Given the description of an element on the screen output the (x, y) to click on. 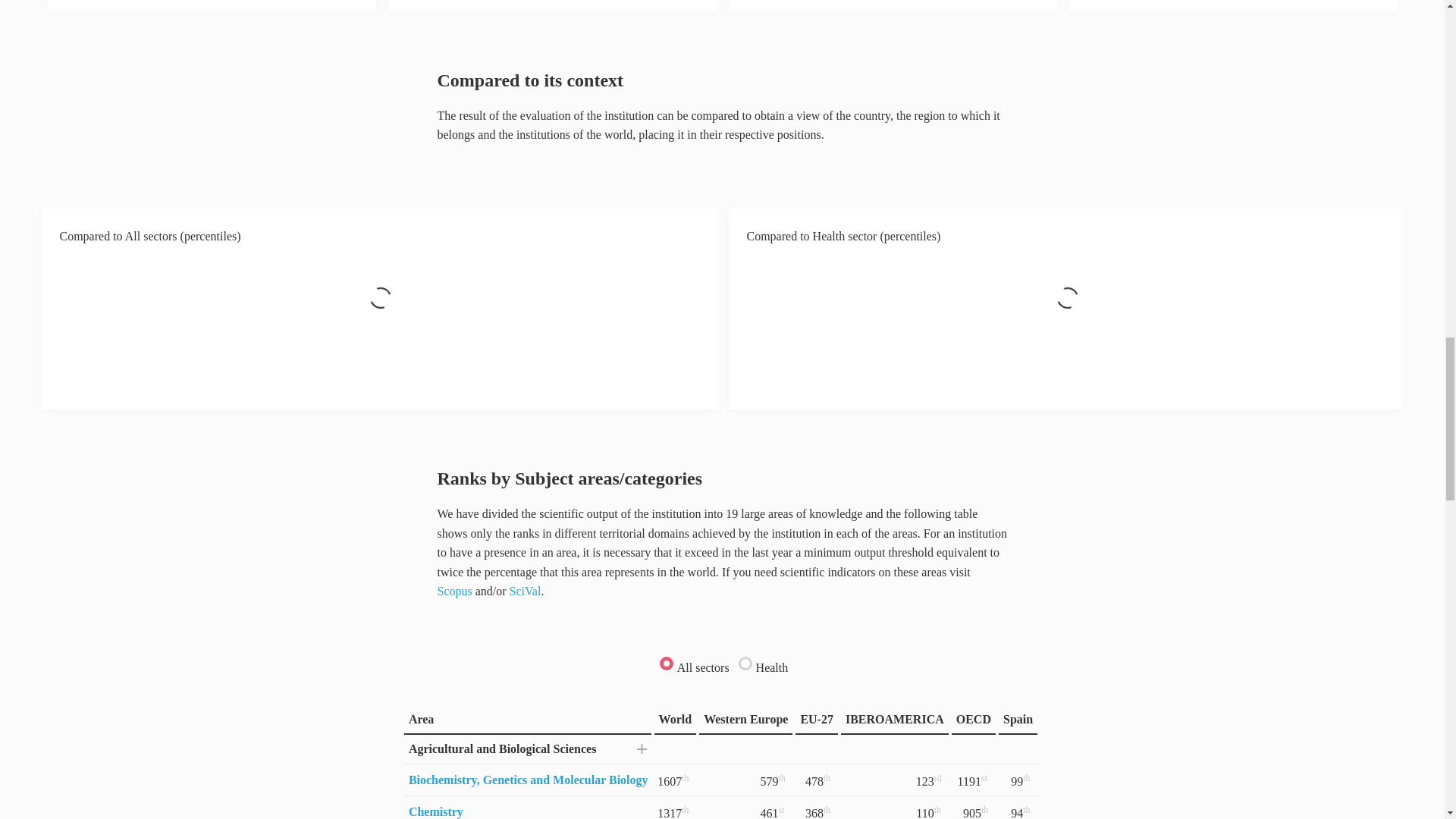
all (665, 663)
Biochemistry, Genetics and Molecular Biology (528, 779)
Ranking - Biochemistry, Genetics and Molecular Biology  (528, 779)
Ranking - Chemistry  (436, 811)
Chemistry (436, 811)
sector (744, 663)
Scopus (453, 590)
SciVal (525, 590)
